Given the description of an element on the screen output the (x, y) to click on. 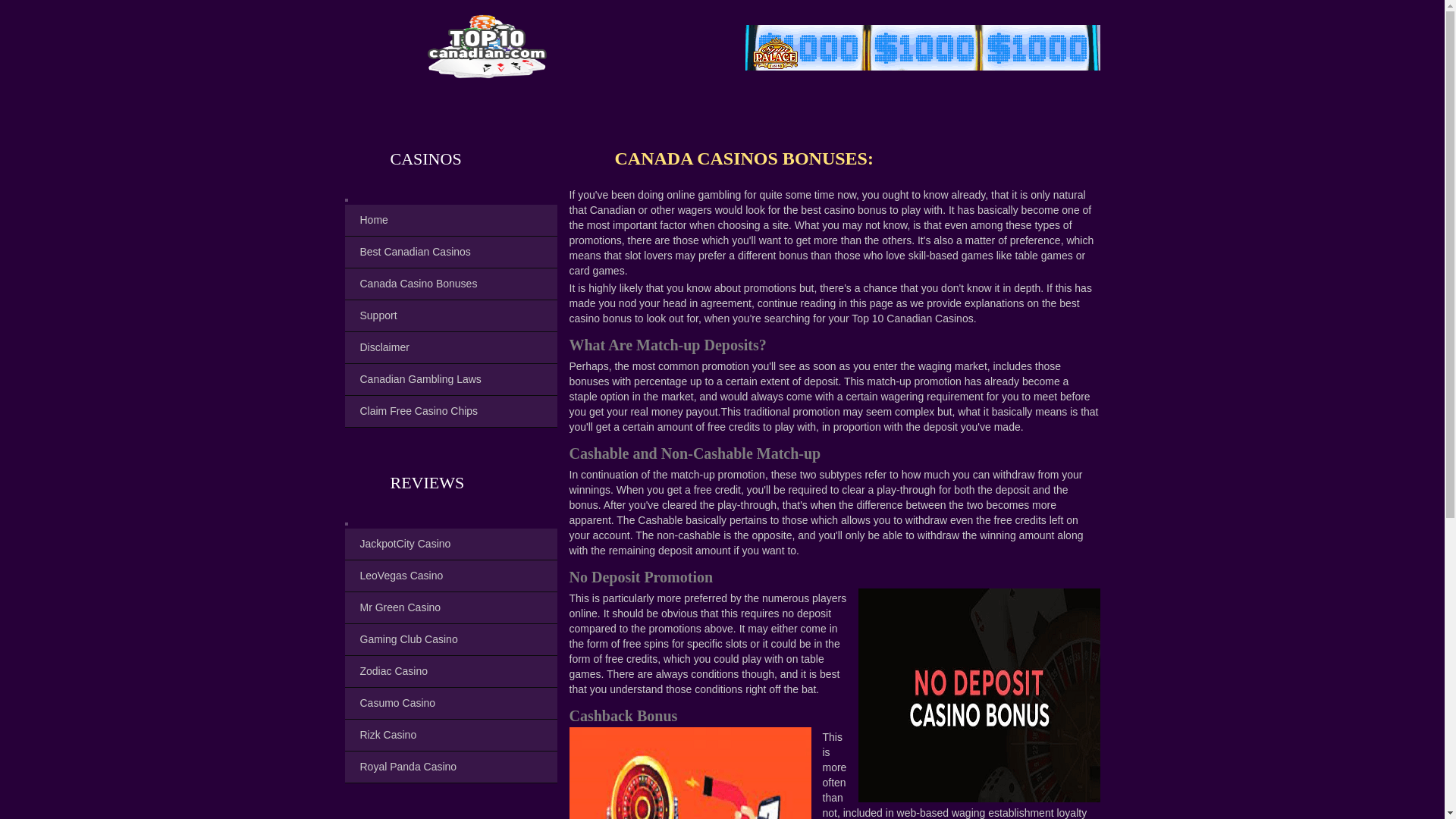
LeoVegas Casino (396, 575)
Support (373, 315)
Best Canadian Casinos (410, 251)
Gaming Club Casino (403, 639)
Claim Free Casino Chips (413, 410)
Canadian Gambling Laws (415, 378)
Rizk Casino (383, 734)
Royal Panda Casino (403, 766)
Mr Green Casino (395, 607)
Canada Casino Bonuses (413, 283)
